Given the description of an element on the screen output the (x, y) to click on. 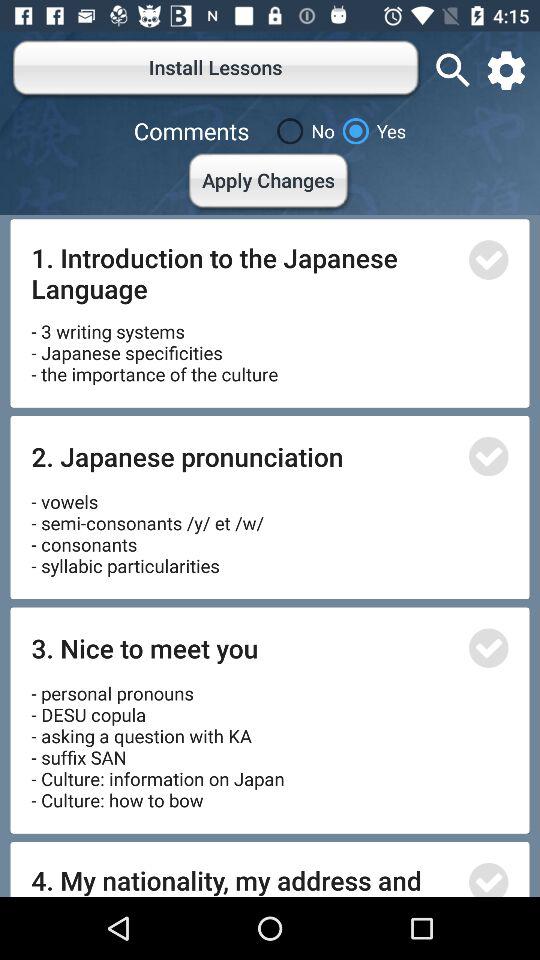
choose subject (488, 879)
